Given the description of an element on the screen output the (x, y) to click on. 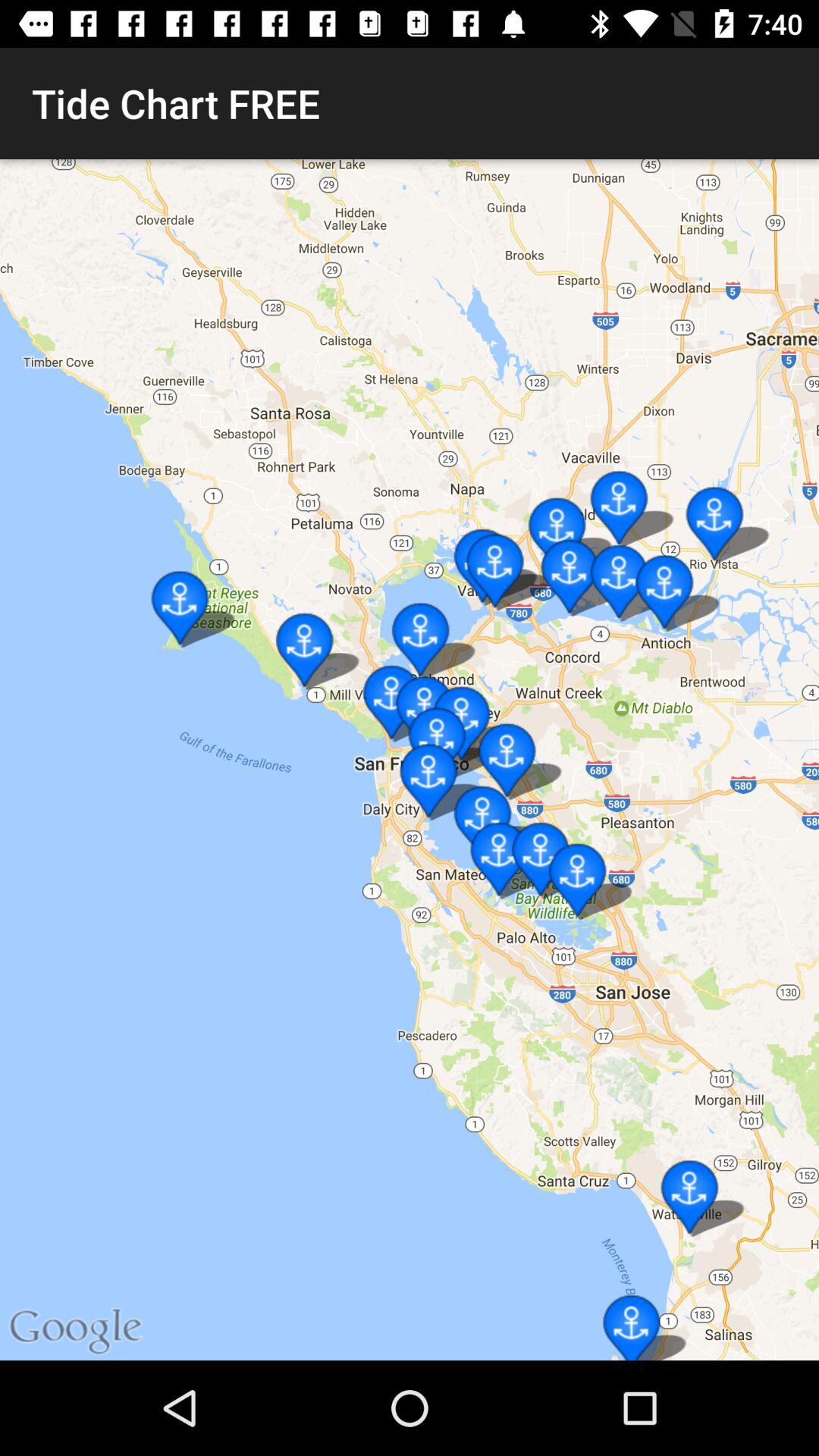
turn on item at the center (409, 759)
